Given the description of an element on the screen output the (x, y) to click on. 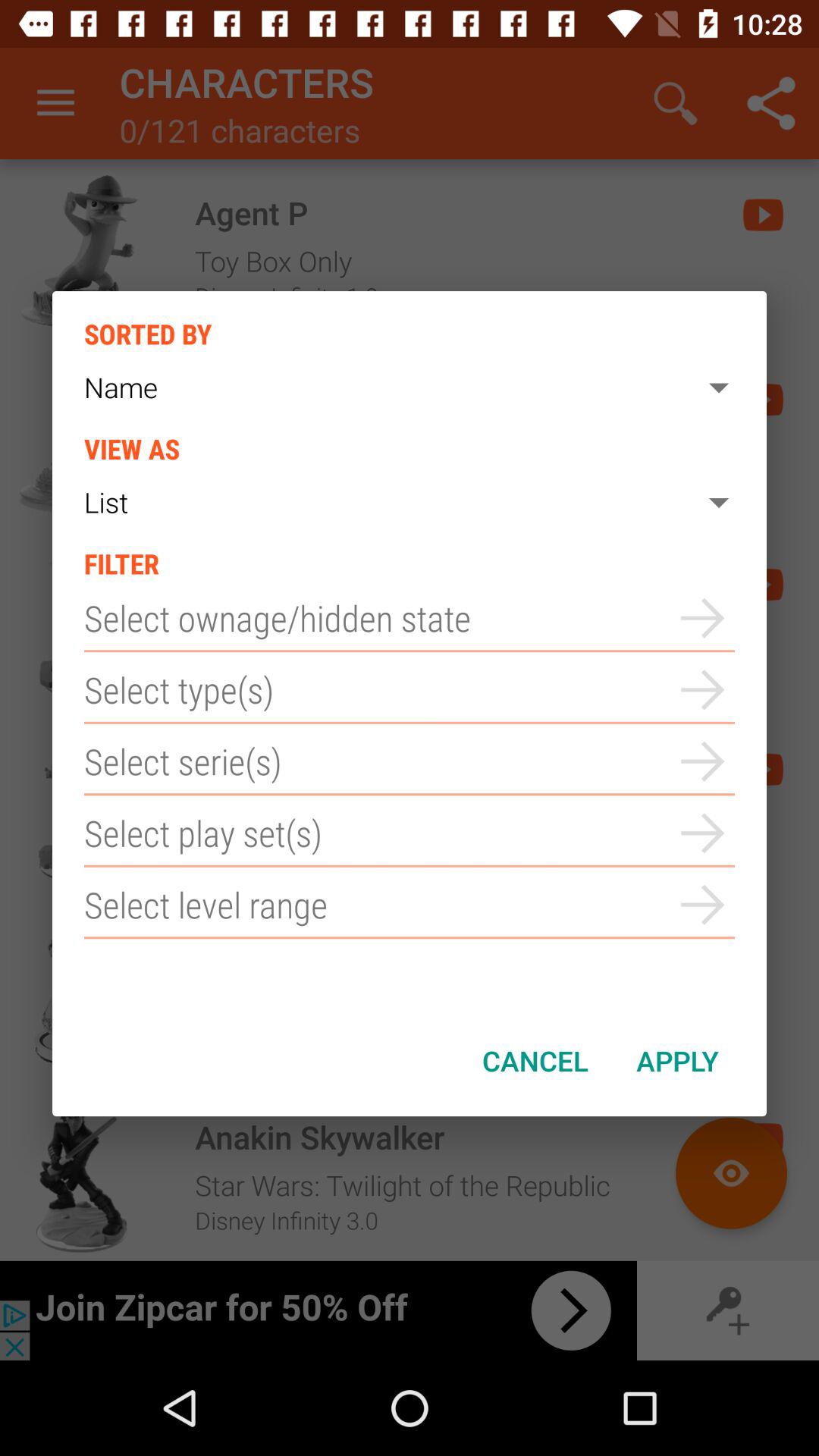
select level range (409, 904)
